Given the description of an element on the screen output the (x, y) to click on. 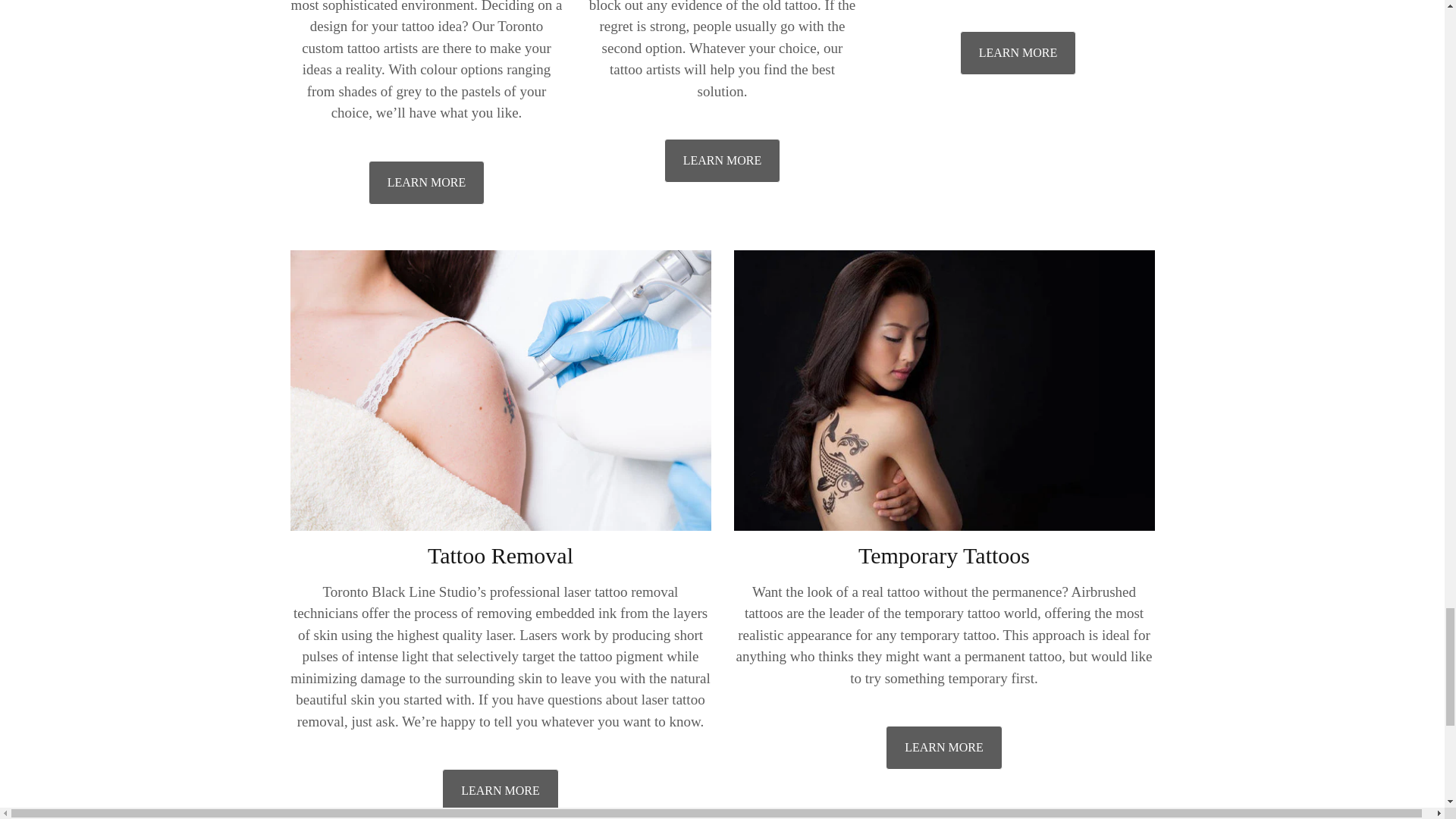
LEARN MORE (500, 791)
LEARN MORE (1018, 53)
LEARN MORE (721, 160)
LEARN MORE (426, 182)
LEARN MORE (944, 747)
